Given the description of an element on the screen output the (x, y) to click on. 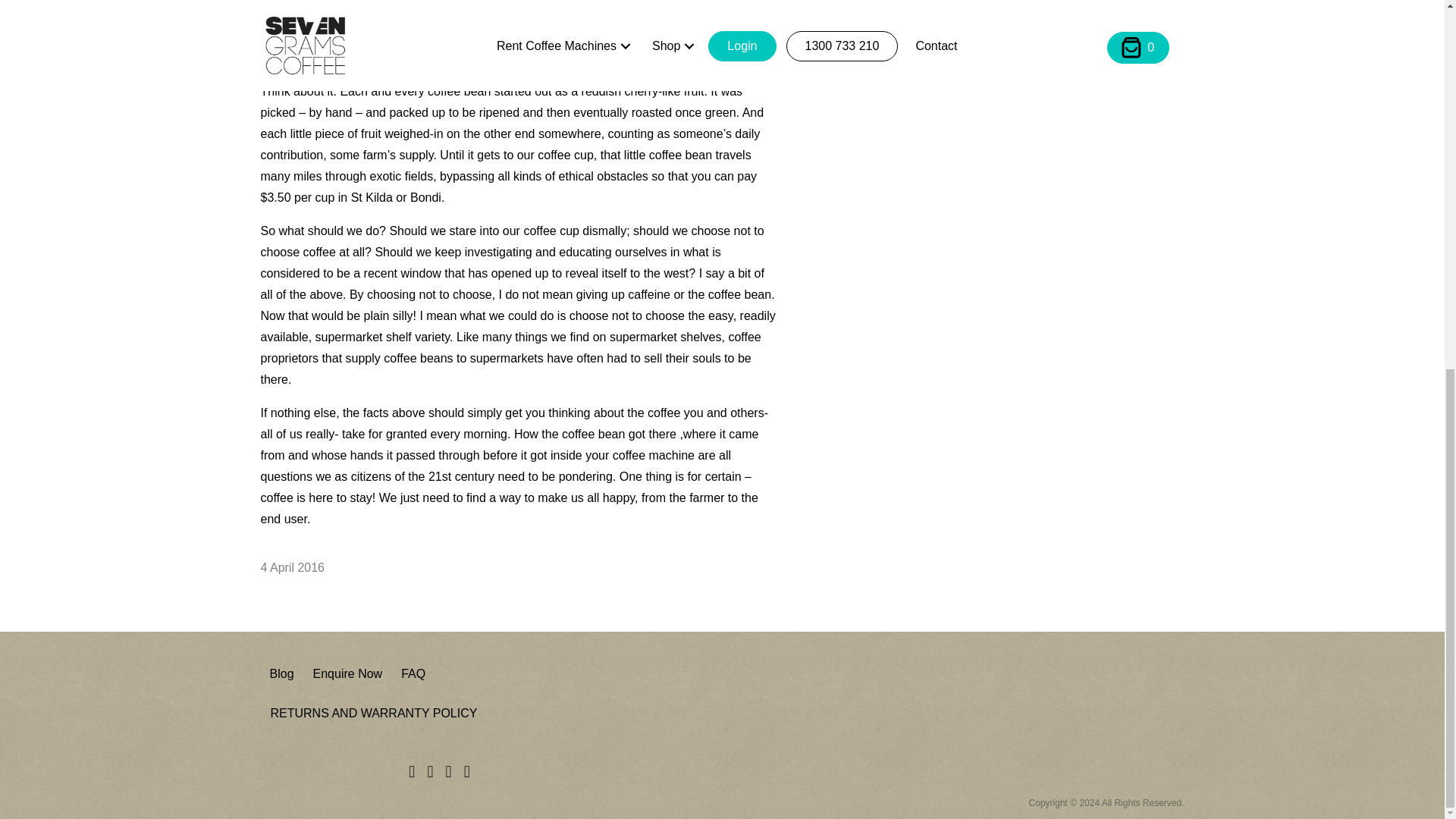
Blog (281, 673)
Enquire Now (347, 673)
RETURNS AND WARRANTY POLICY (373, 713)
FAQ (412, 673)
